Given the description of an element on the screen output the (x, y) to click on. 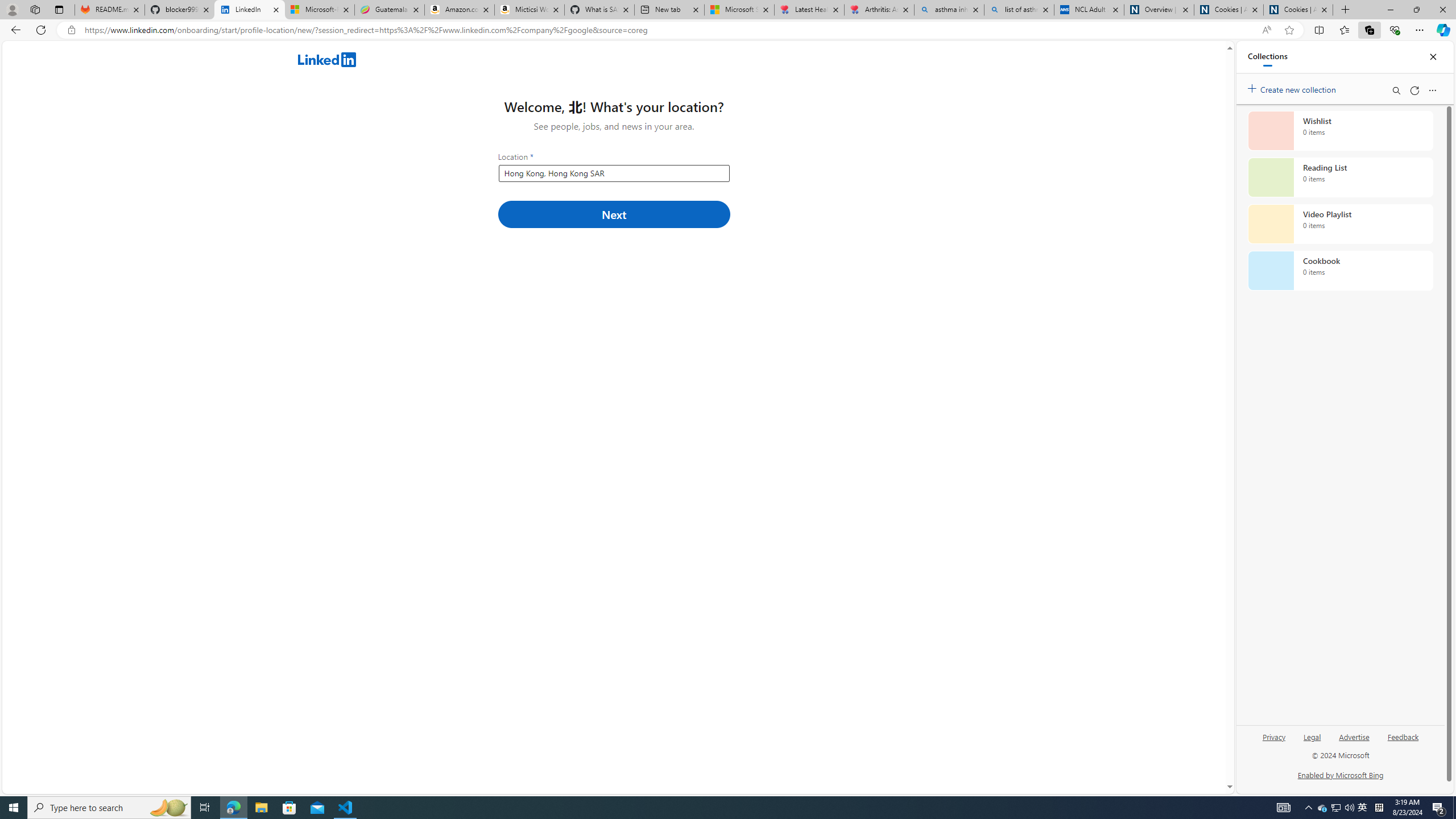
asthma inhaler - Search (949, 9)
Cookies | About | NICE (1297, 9)
Wishlist collection, 0 items (1339, 130)
